Given the description of an element on the screen output the (x, y) to click on. 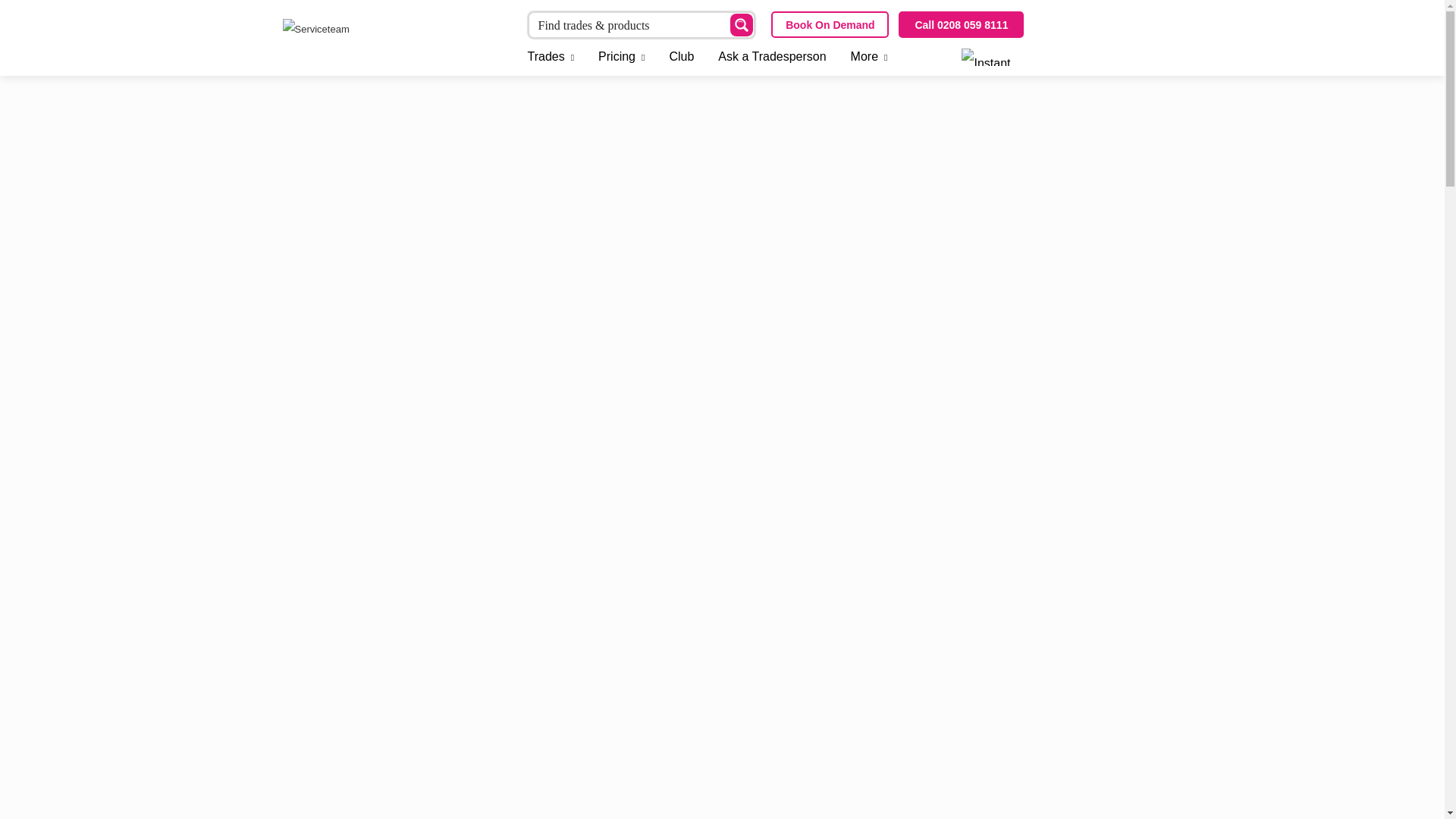
Pricing (621, 56)
Club (681, 56)
Trades (556, 56)
Call 0208 059 8111 (960, 24)
Serviceteam (392, 41)
Book On Demand (829, 24)
More (868, 56)
Ask a Tradesperson (772, 56)
